Given the description of an element on the screen output the (x, y) to click on. 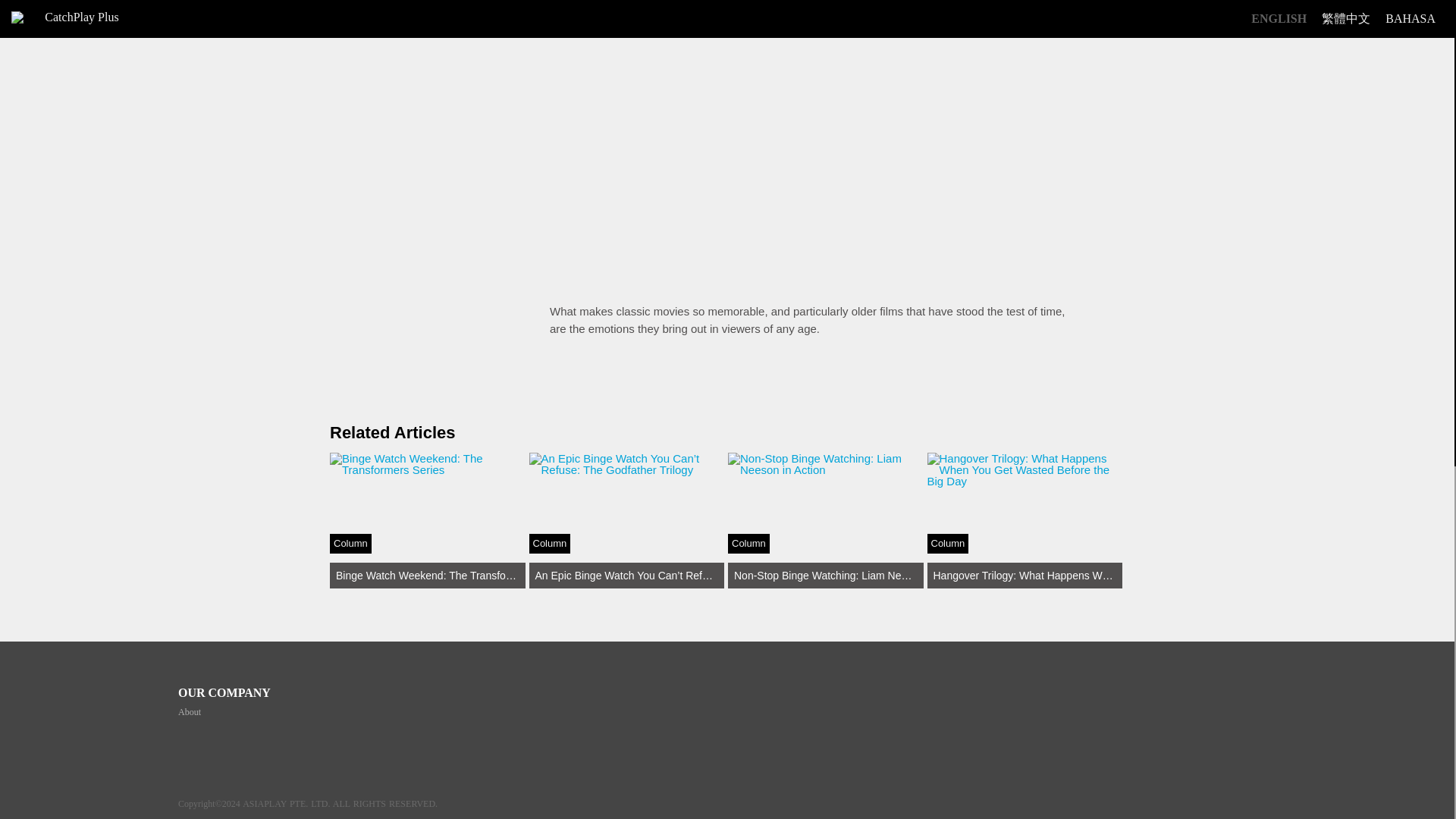
About (188, 711)
